Given the description of an element on the screen output the (x, y) to click on. 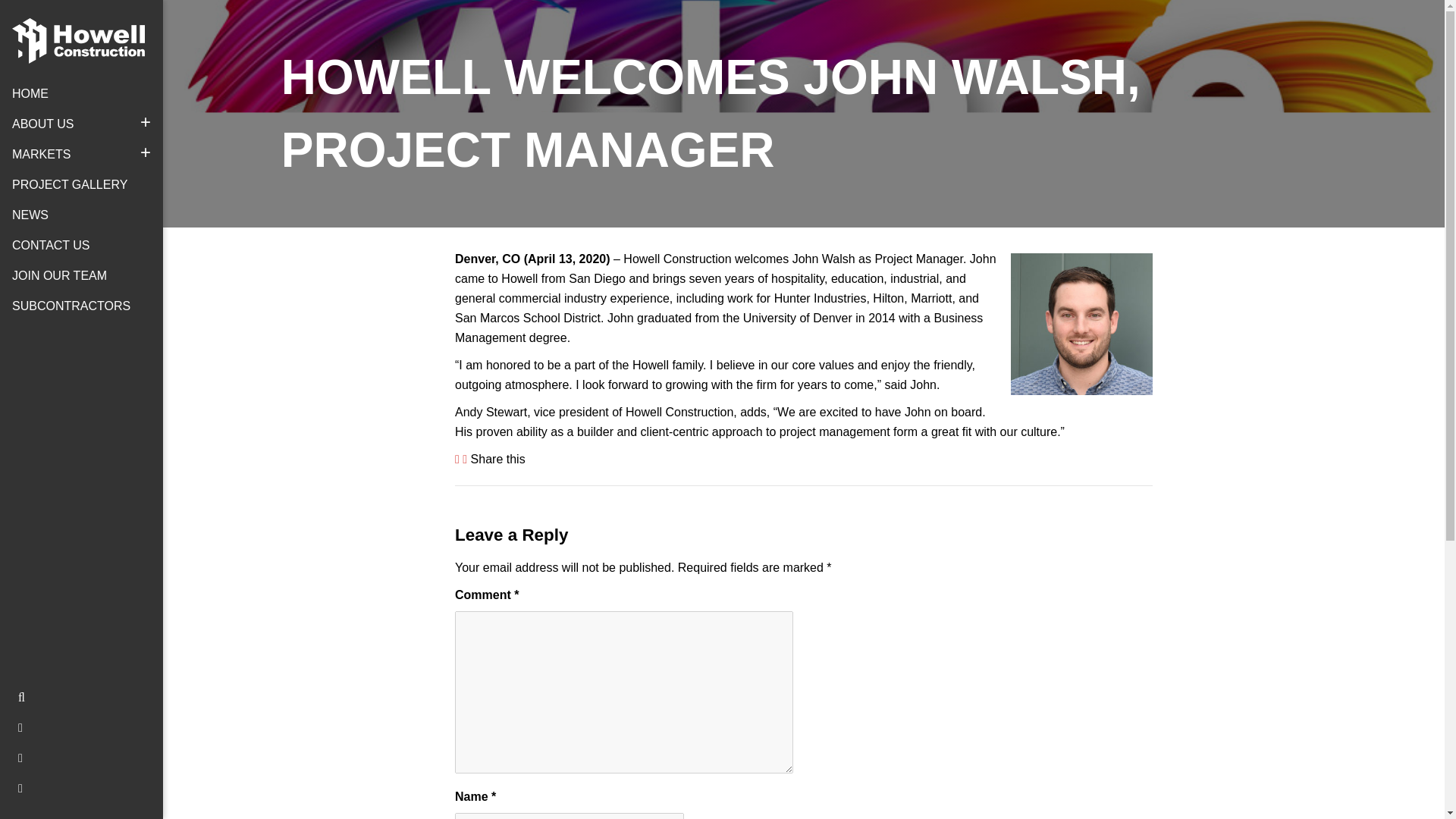
JOIN OUR TEAM (81, 276)
PROJECT GALLERY (81, 184)
HOME (81, 93)
NEWS (81, 214)
CONTACT US (81, 245)
SUBCONTRACTORS (81, 306)
